Given the description of an element on the screen output the (x, y) to click on. 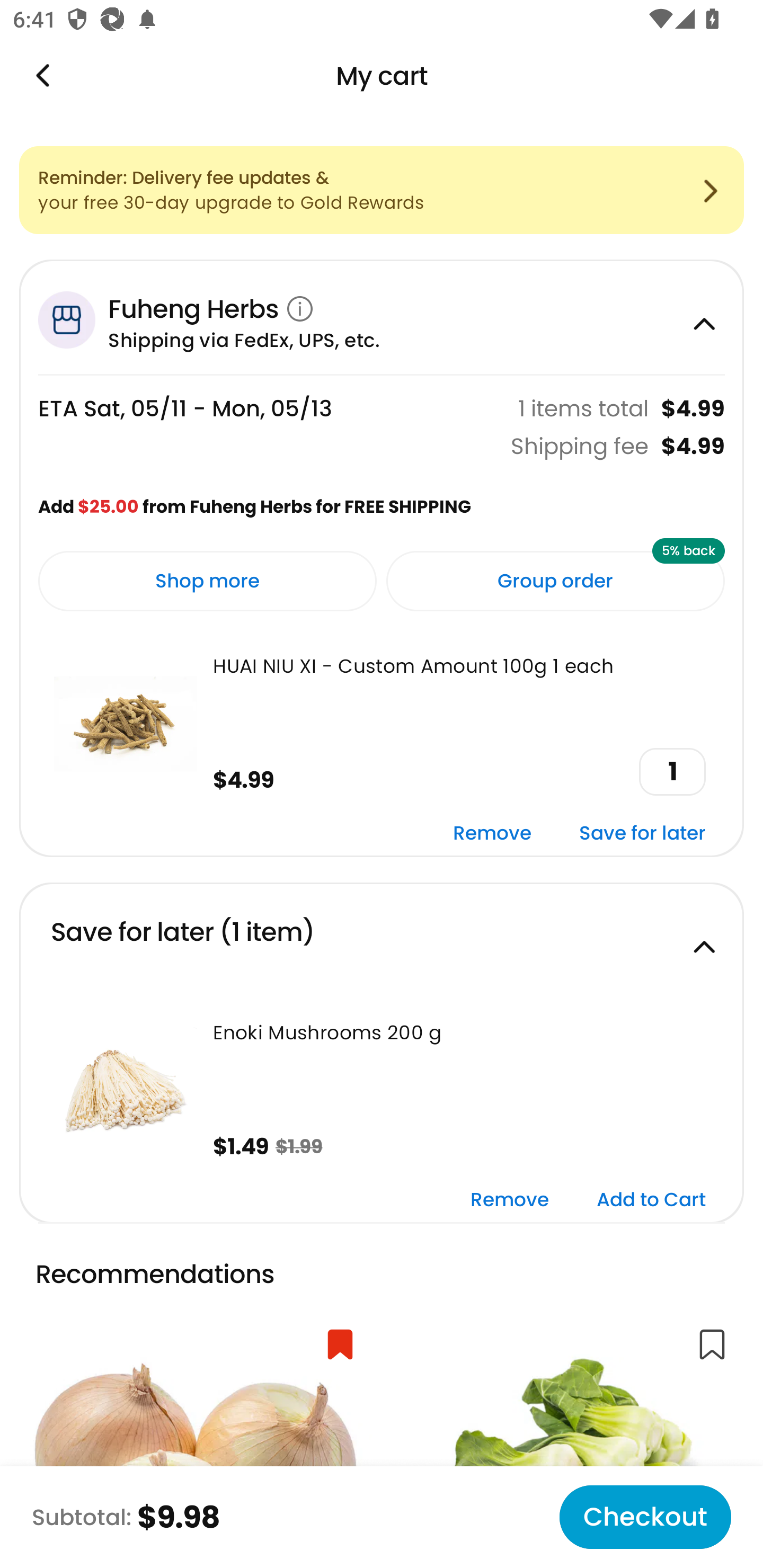
Fuheng Herbs Shipping via FedEx, UPS, etc. (381, 317)
Shop more (207, 580)
Group order (555, 580)
1 (672, 770)
Remove (491, 834)
Save for later (642, 834)
Save for later (1 item) (381, 939)
Remove (509, 1200)
Add to Cart (651, 1200)
Recommendations (164, 1274)
Checkout (644, 1516)
